Given the description of an element on the screen output the (x, y) to click on. 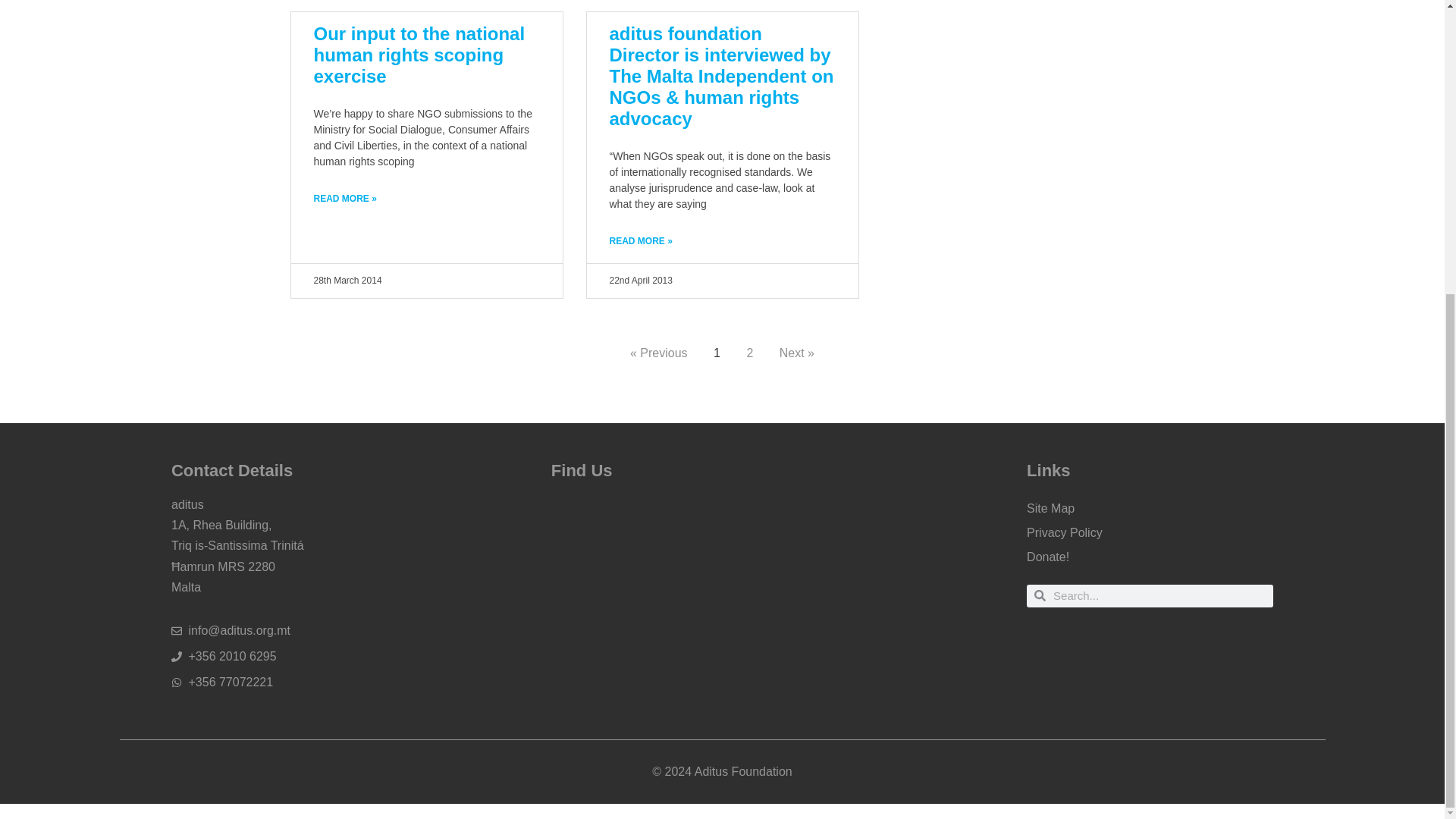
aditus foundation (722, 598)
